Given the description of an element on the screen output the (x, y) to click on. 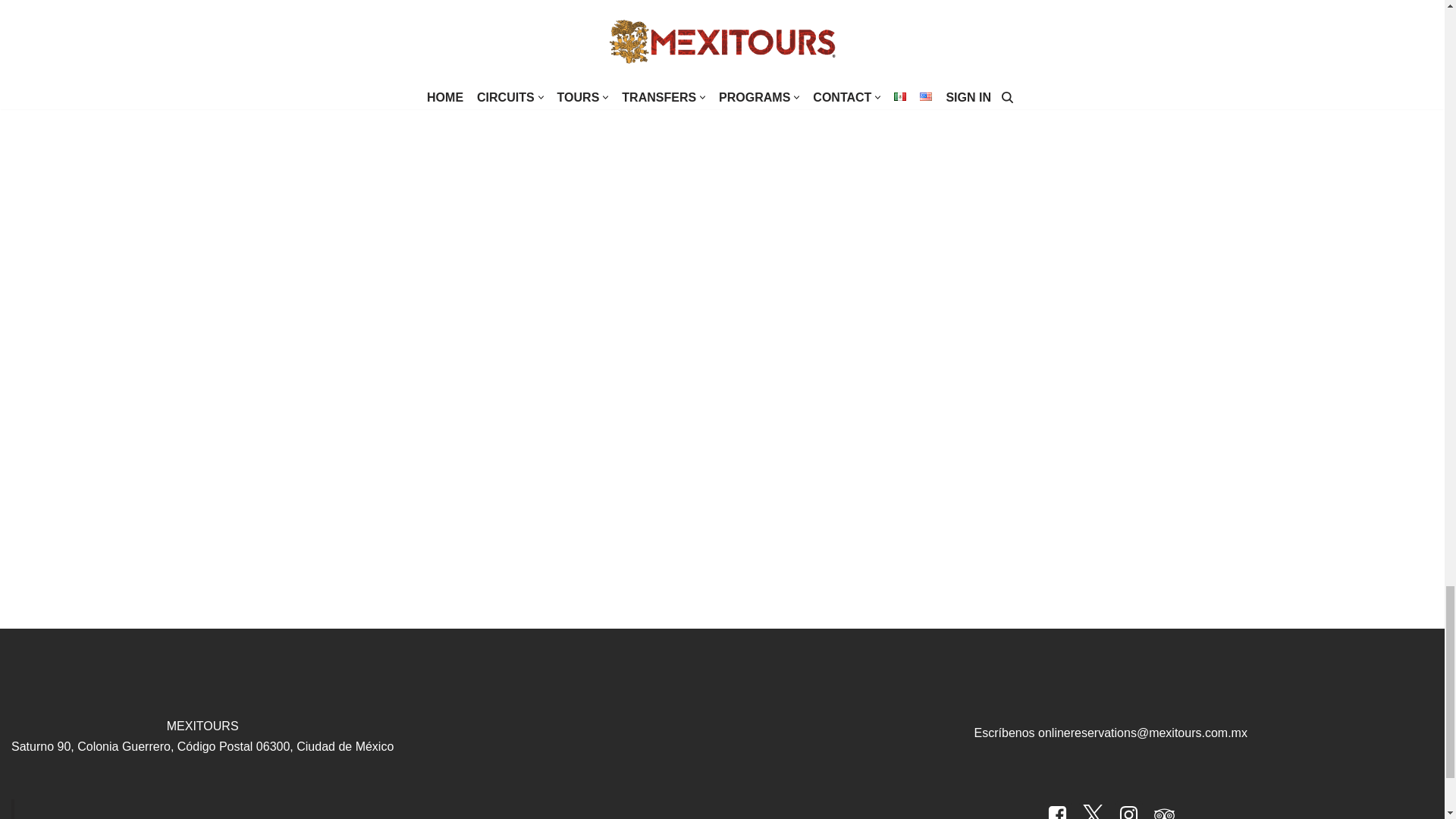
Tripadvisor (1163, 809)
Instagram (1128, 809)
Twitter (1092, 809)
Facebook (1057, 809)
